Given the description of an element on the screen output the (x, y) to click on. 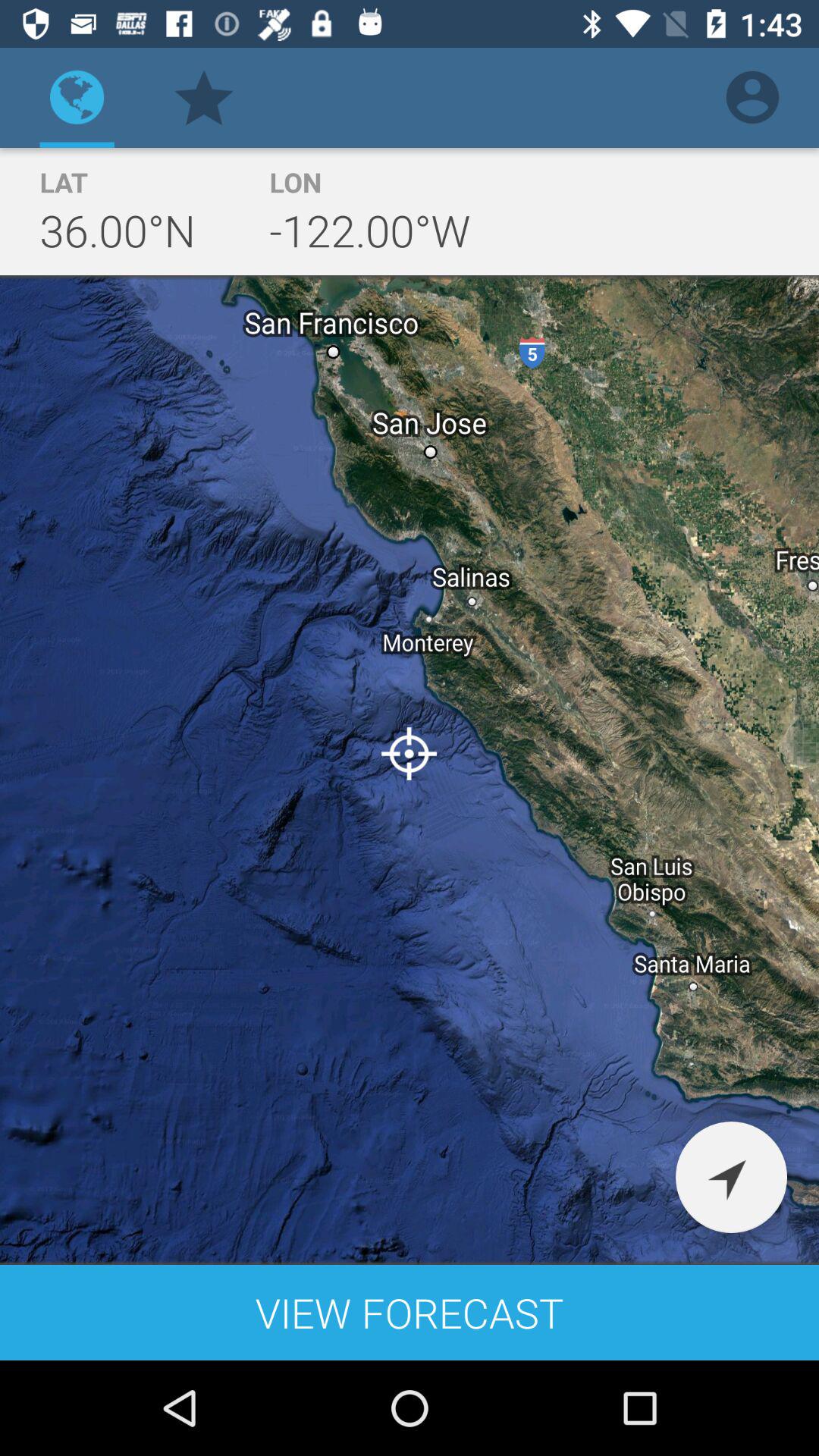
turn on the icon at the bottom right corner (731, 1177)
